Given the description of an element on the screen output the (x, y) to click on. 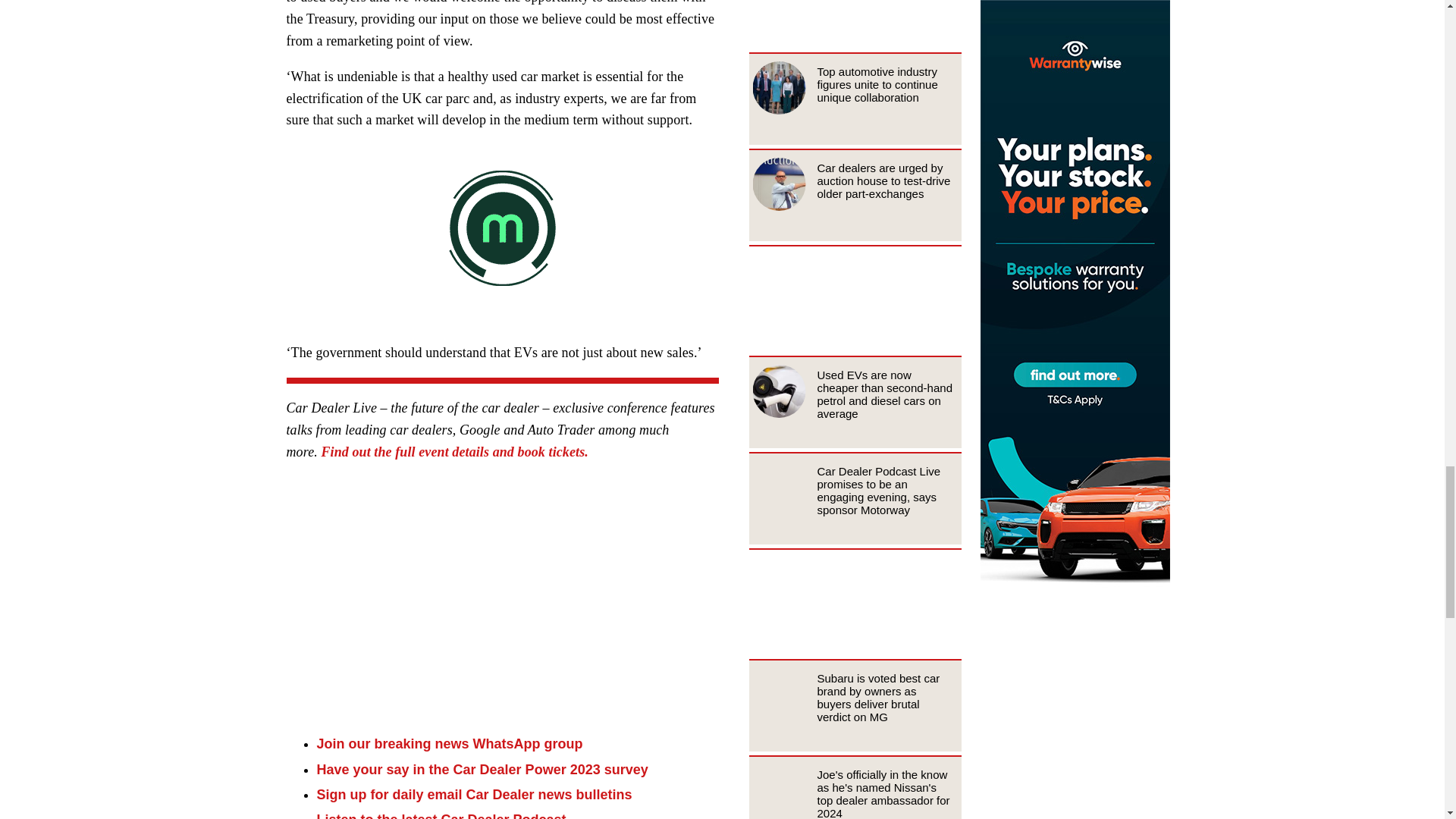
Have your say in the Car Dealer Power 2023 survey (482, 769)
YouTube video player (498, 594)
Find out the full event details and book tickets. (454, 451)
Join our breaking news WhatsApp group (450, 743)
Sign up for daily email Car Dealer news bulletins (474, 794)
Listen to the latest Car Dealer Podcast (441, 815)
